Given the description of an element on the screen output the (x, y) to click on. 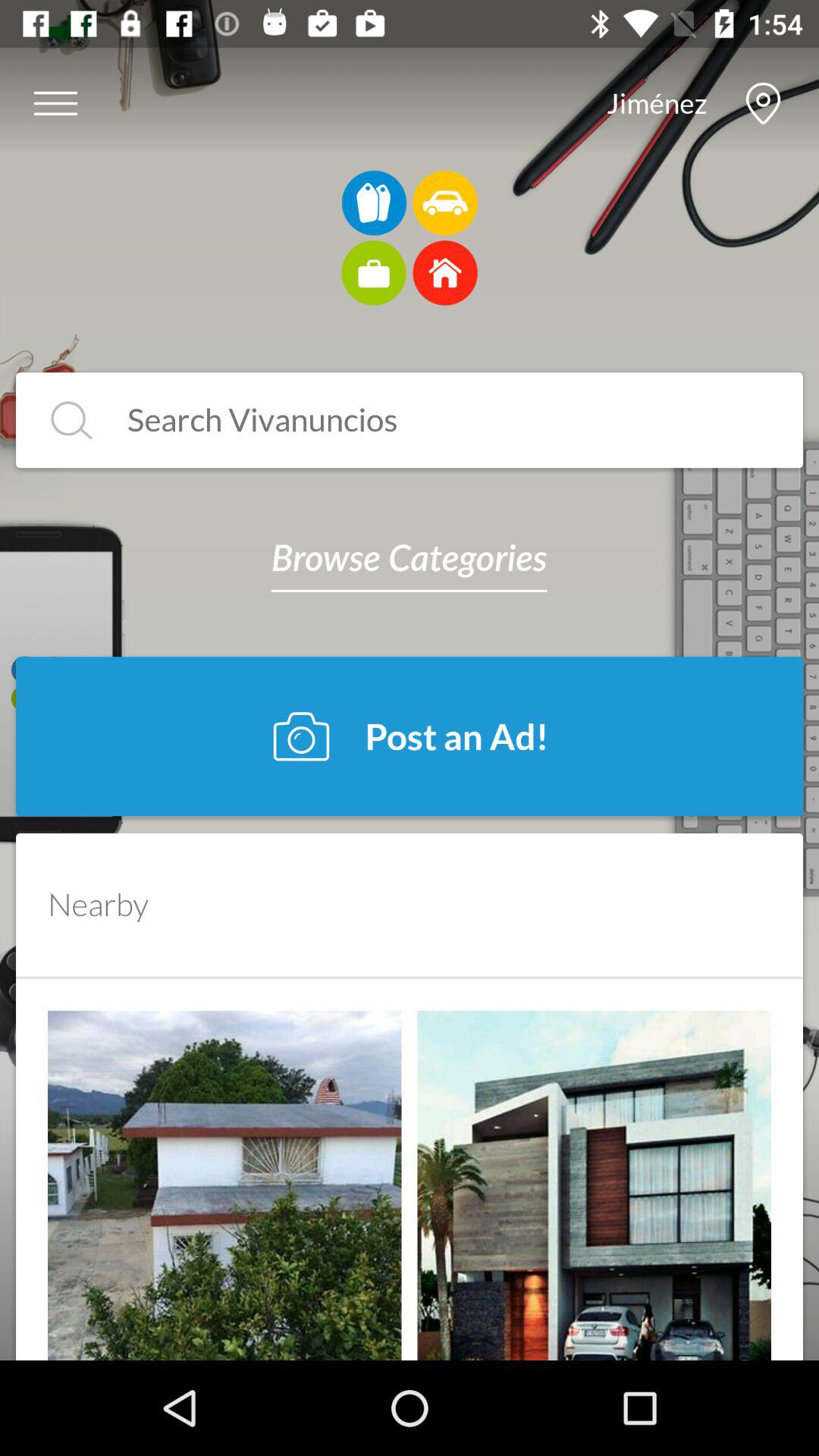
search image (433, 420)
